Given the description of an element on the screen output the (x, y) to click on. 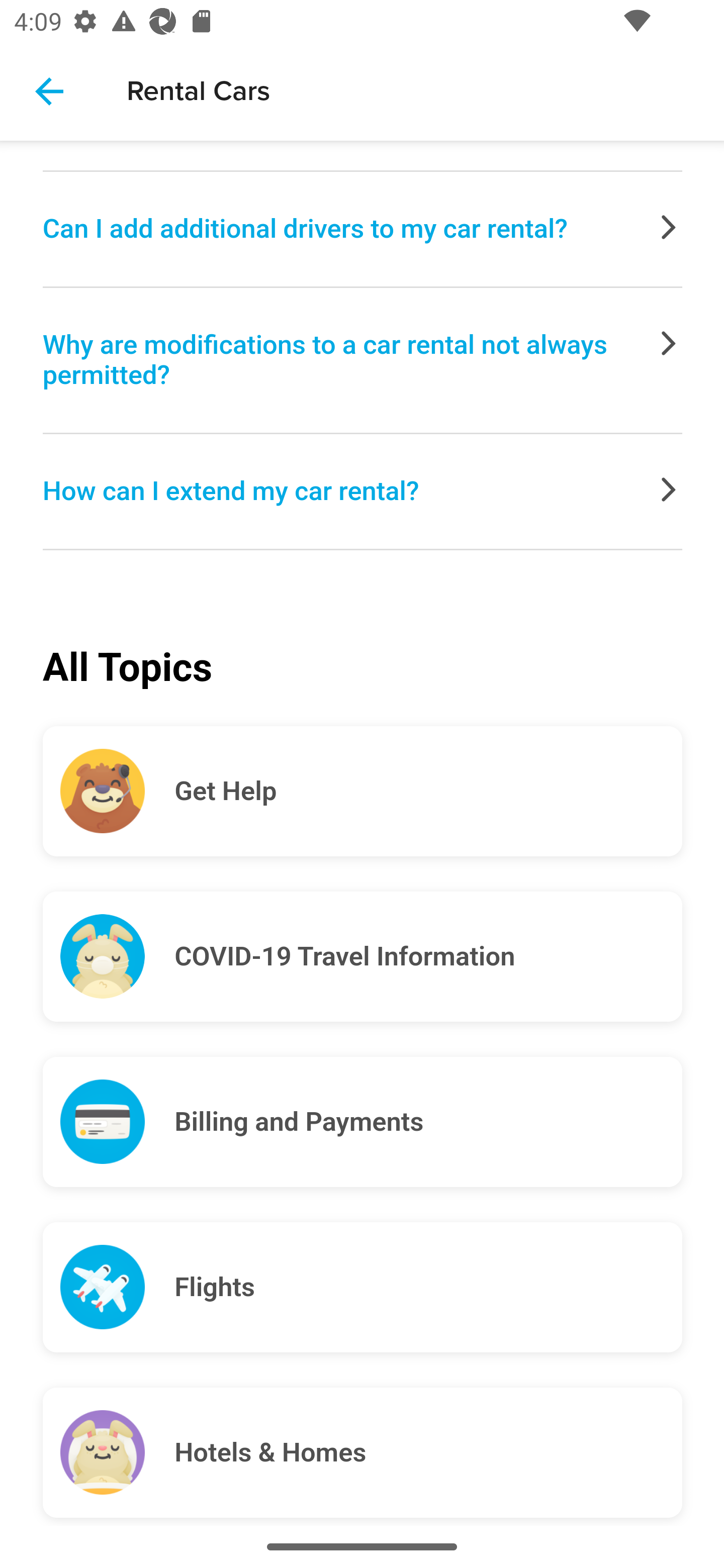
Navigate up (49, 91)
Can I add additional drivers to my car rental? (362, 230)
How can I extend my car rental? (362, 491)
Get Help (428, 790)
COVID-19 Travel Information (428, 956)
Billing and Payments (428, 1121)
Flights (428, 1287)
Hotels & Homes (428, 1452)
